Given the description of an element on the screen output the (x, y) to click on. 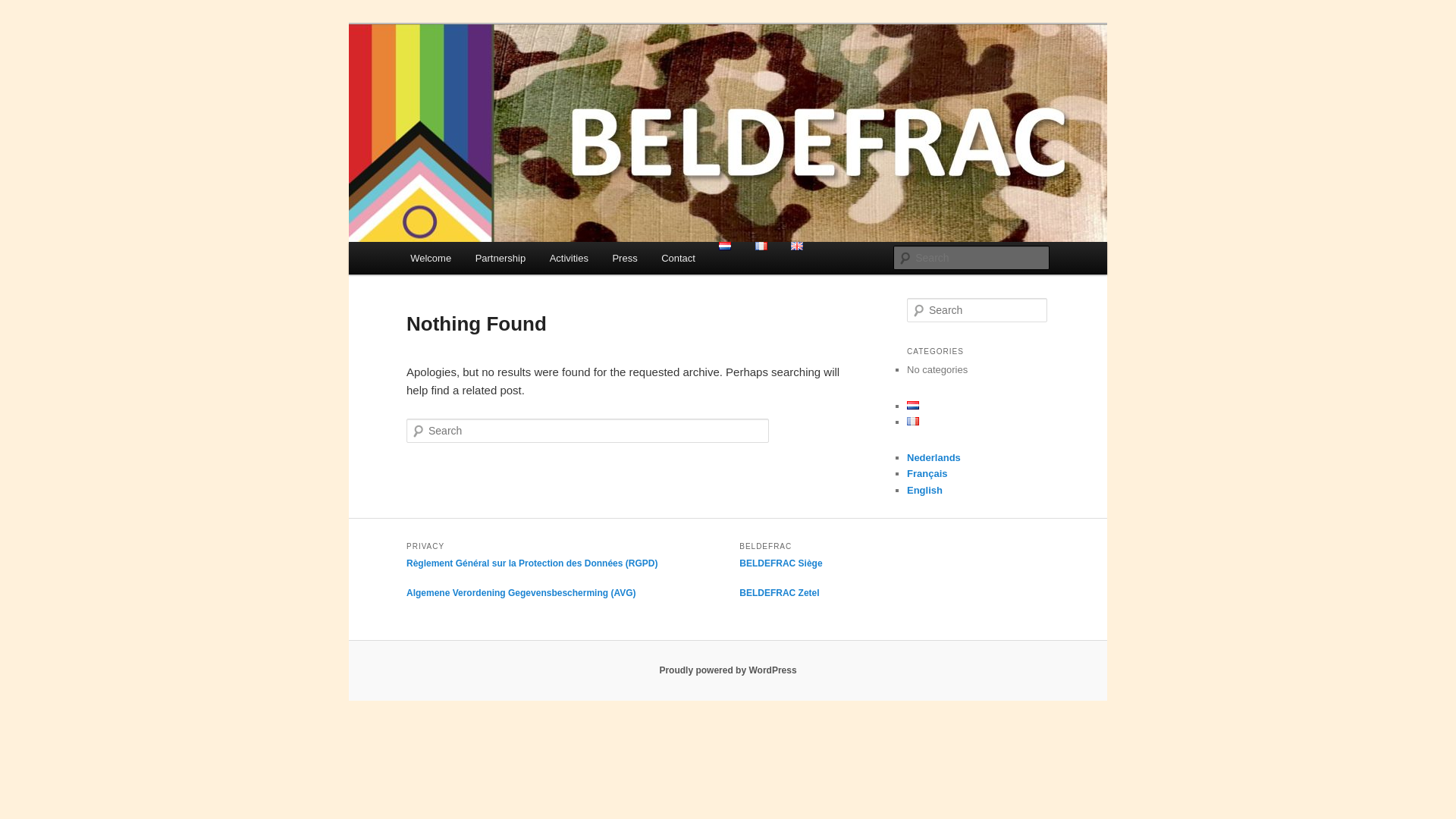
Proudly powered by WordPress Element type: text (727, 670)
Belgian Defence Rainbow Community Element type: text (610, 78)
Contact Element type: text (677, 257)
Search Element type: text (24, 8)
Press Element type: text (624, 257)
English Element type: text (924, 489)
Algemene Verordening Gegevensbescherming (AVG) Element type: text (521, 592)
Partnership Element type: text (500, 257)
Welcome Element type: text (430, 257)
Activities Element type: text (568, 257)
BELDEFRAC Zetel Element type: text (779, 592)
Skip to primary content Element type: text (22, 22)
Nederlands Element type: text (933, 457)
Search Element type: text (20, 10)
